Given the description of an element on the screen output the (x, y) to click on. 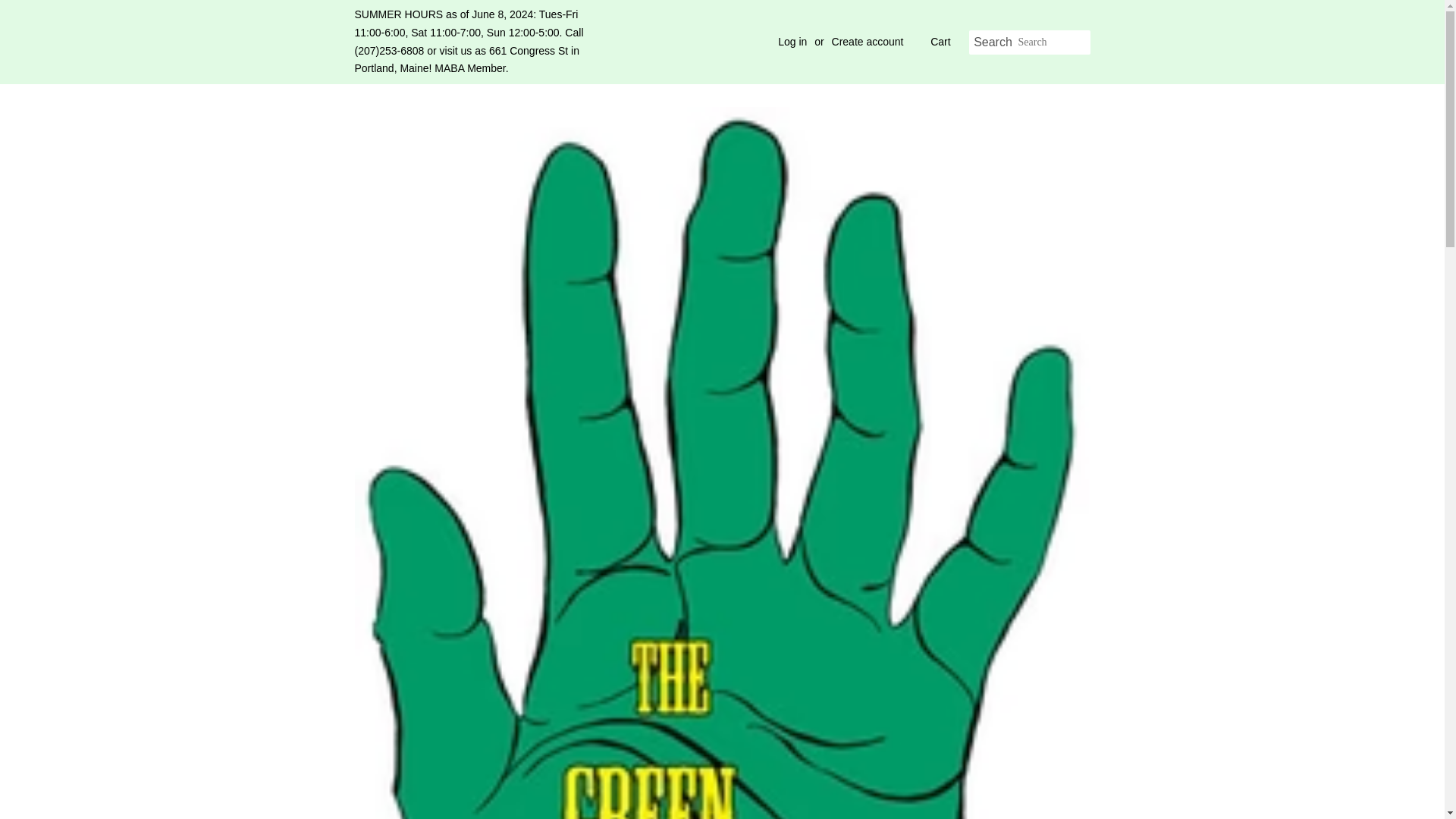
Cart (940, 42)
Log in (791, 41)
Search (993, 42)
Create account (867, 41)
